Given the description of an element on the screen output the (x, y) to click on. 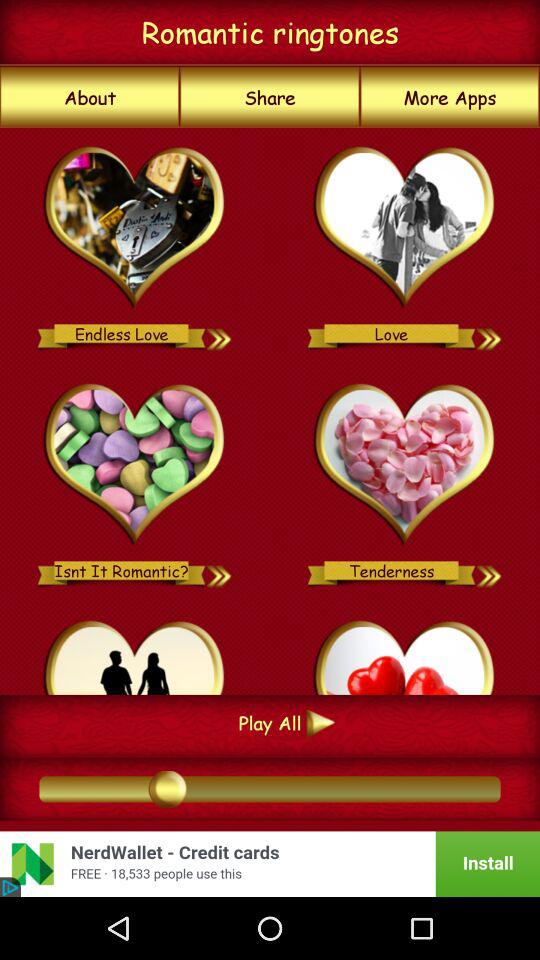
select ringtone (404, 654)
